Given the description of an element on the screen output the (x, y) to click on. 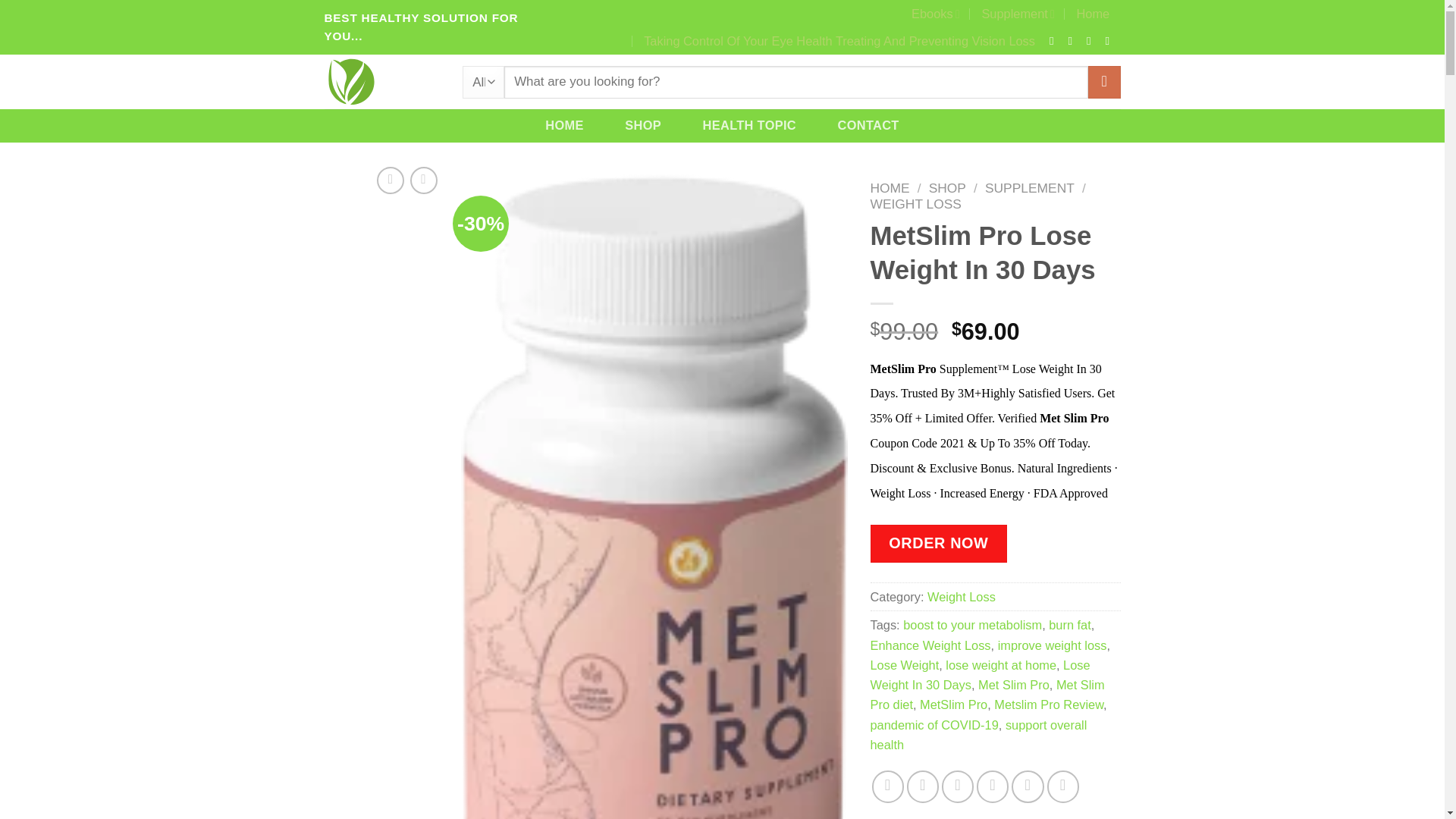
Share on Facebook (888, 786)
Share on VKontakte (992, 786)
Home (1092, 13)
Ebooks (935, 13)
HOME (564, 124)
Search (1103, 82)
Pin on Pinterest (958, 786)
Share on Twitter (923, 786)
Supplement (1017, 13)
